Given the description of an element on the screen output the (x, y) to click on. 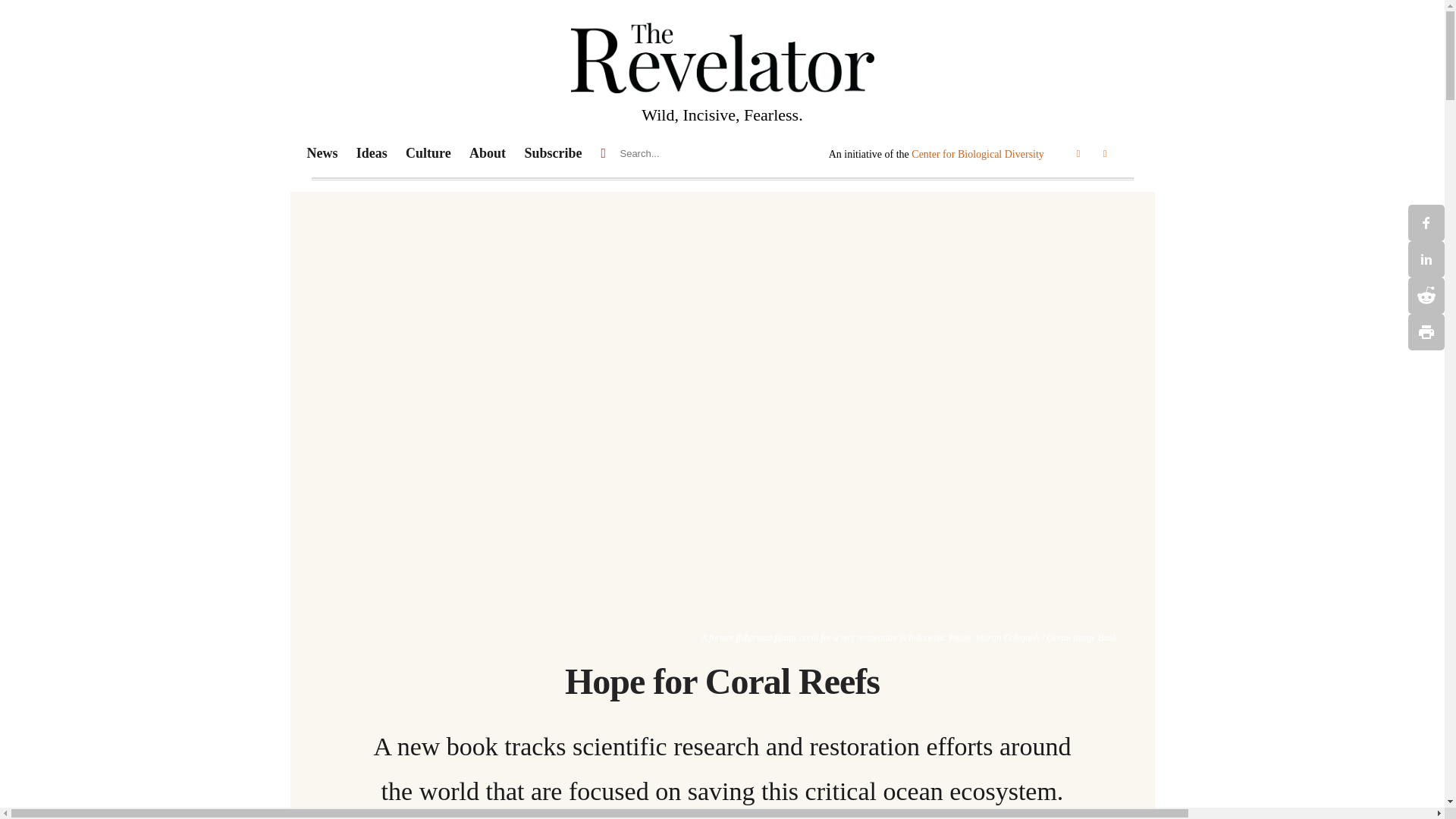
News (331, 153)
Culture (437, 153)
Subscribe (553, 153)
Center for Biological Diversity (977, 153)
Ideas (380, 153)
About (487, 153)
